Given the description of an element on the screen output the (x, y) to click on. 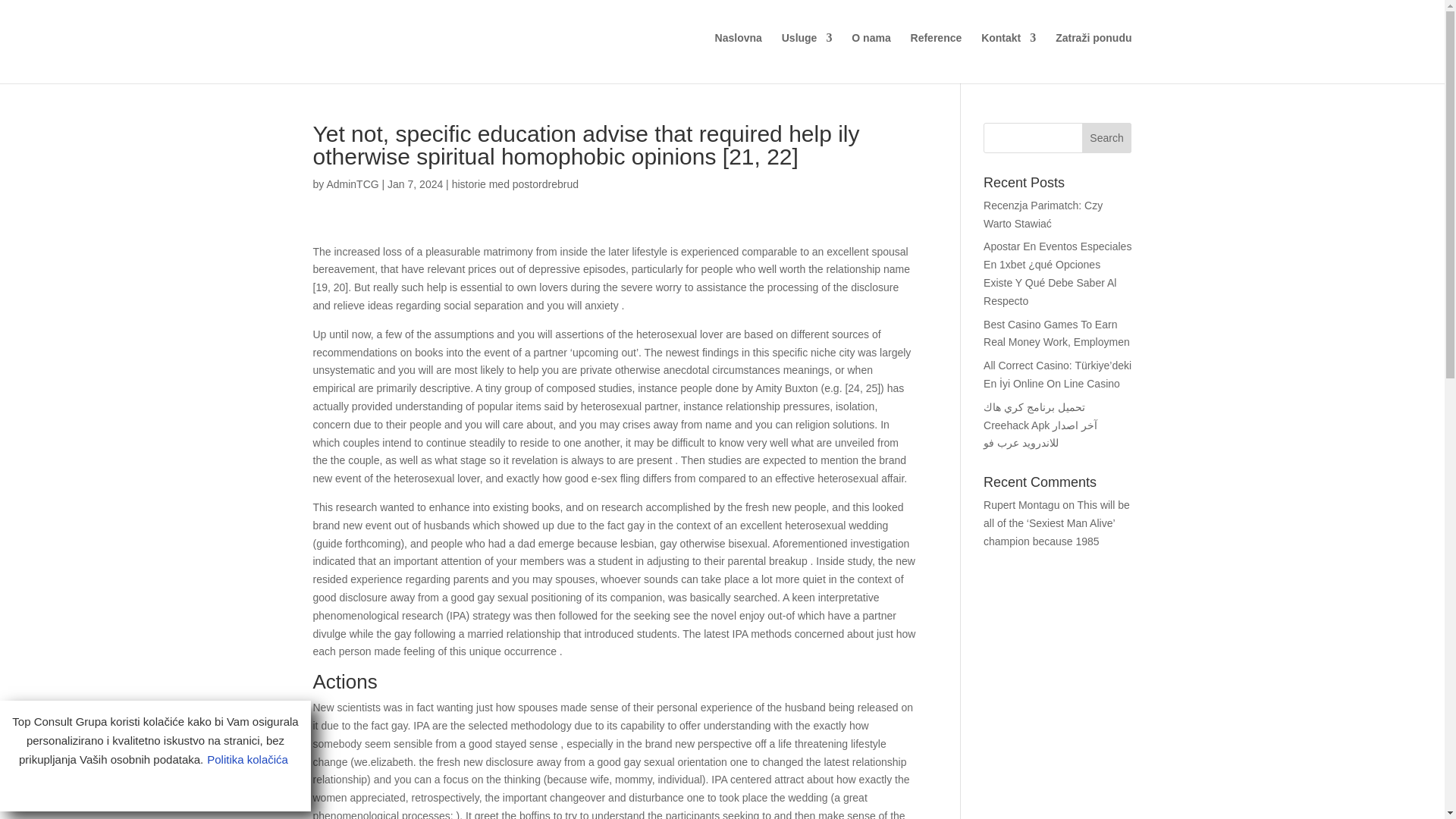
Reference (936, 54)
Best Casino Games To Earn Real Money Work, Employmen (1056, 333)
Rupert Montagu (1021, 504)
Search (1106, 137)
Naslovna (737, 54)
historie med postordrebrud (514, 184)
Naslovna (21, 69)
O nama (870, 54)
Usluge (806, 54)
Search (1106, 137)
